Given the description of an element on the screen output the (x, y) to click on. 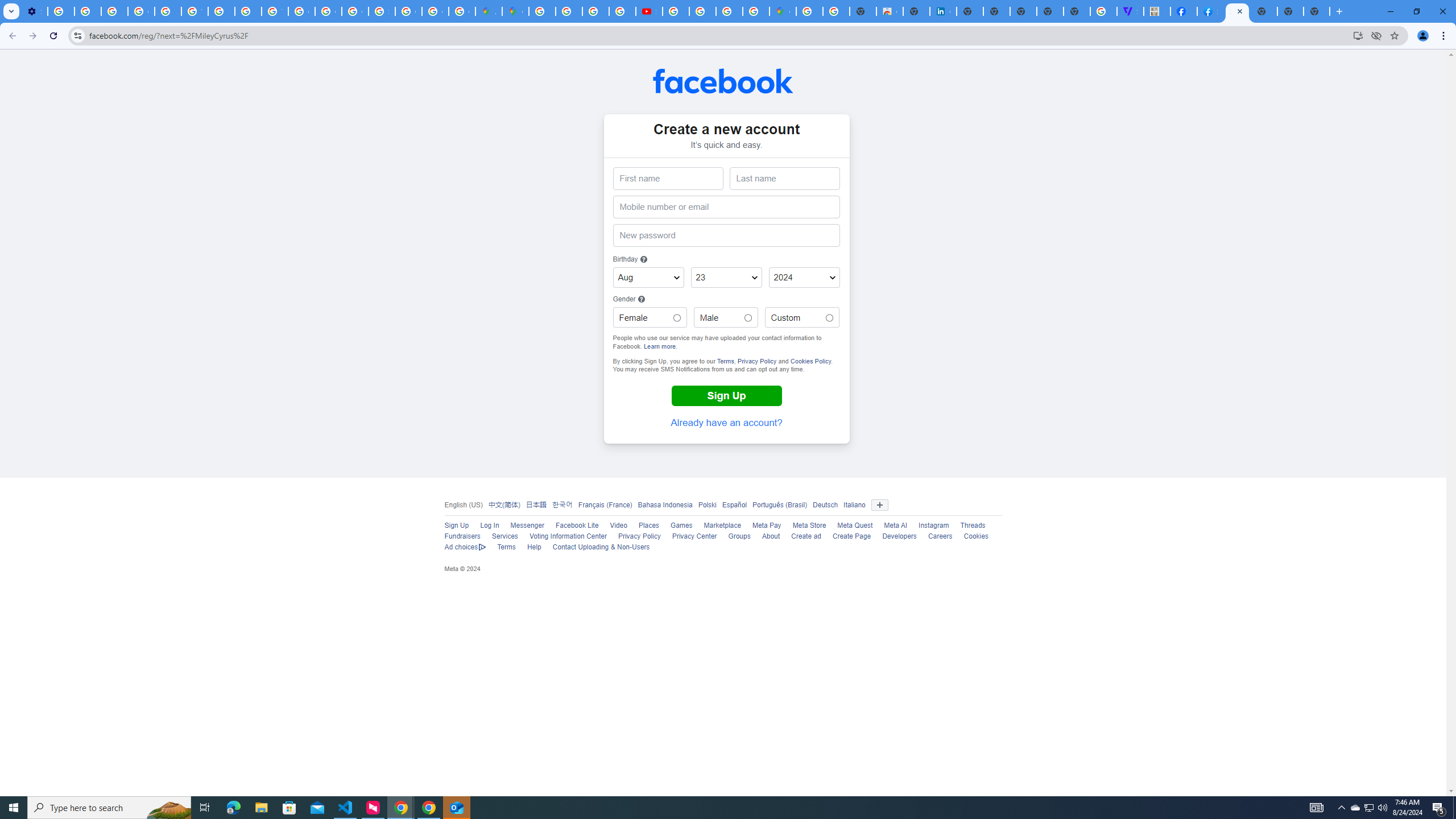
Bookmark this tab (1393, 35)
Log In (489, 525)
YouTube (194, 11)
Contact Uploading & Non-Users (600, 547)
Minimize (1390, 11)
First name (667, 178)
Meta AI (895, 525)
